Given the description of an element on the screen output the (x, y) to click on. 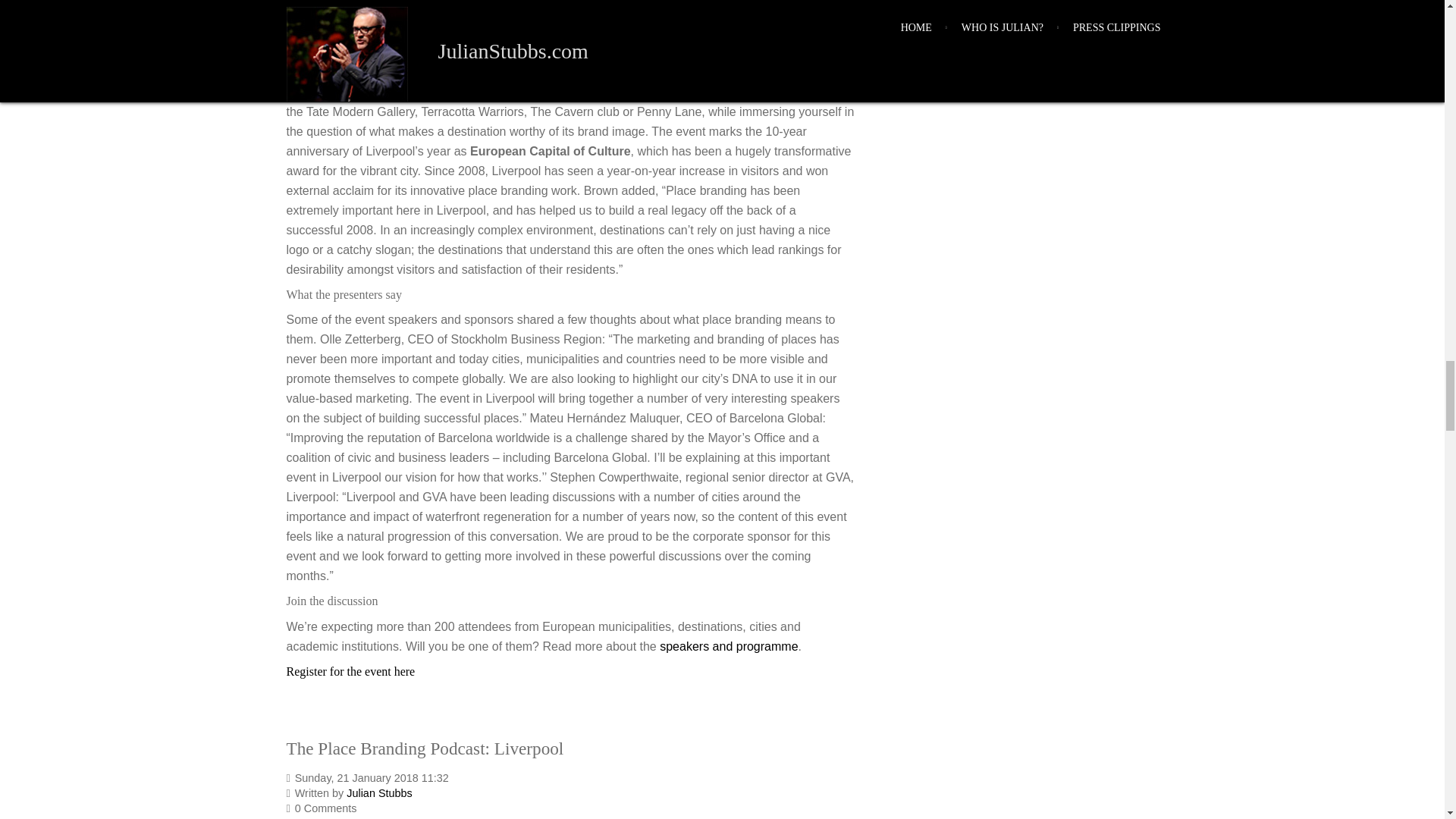
speakers and programme (728, 645)
Titanic Hotel Liverpool (752, 12)
Register for the event here (350, 671)
Posts by Julian Stubbs (379, 793)
Julian Stubbs (379, 793)
